Given the description of an element on the screen output the (x, y) to click on. 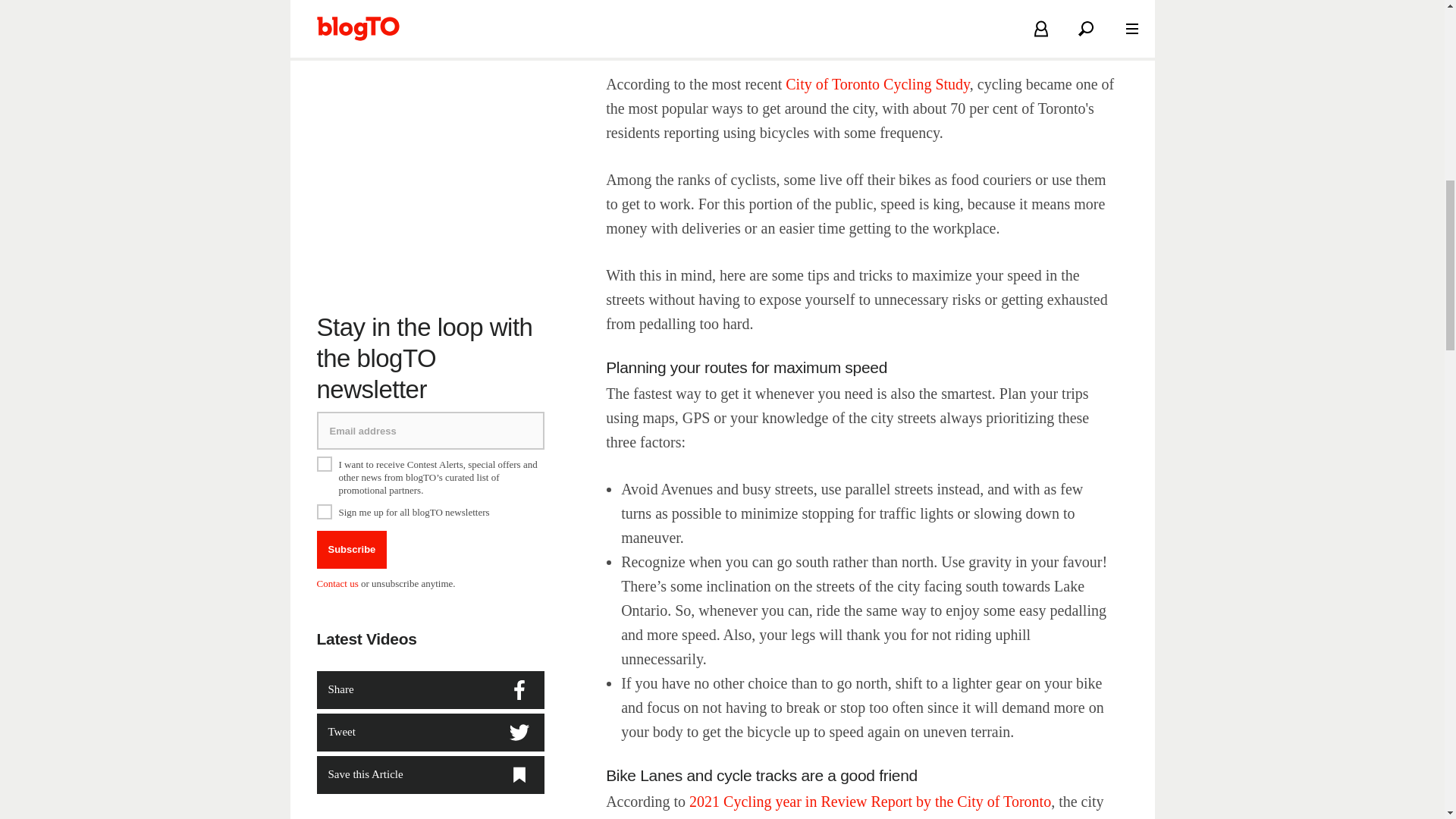
Subscribe (352, 528)
